Given the description of an element on the screen output the (x, y) to click on. 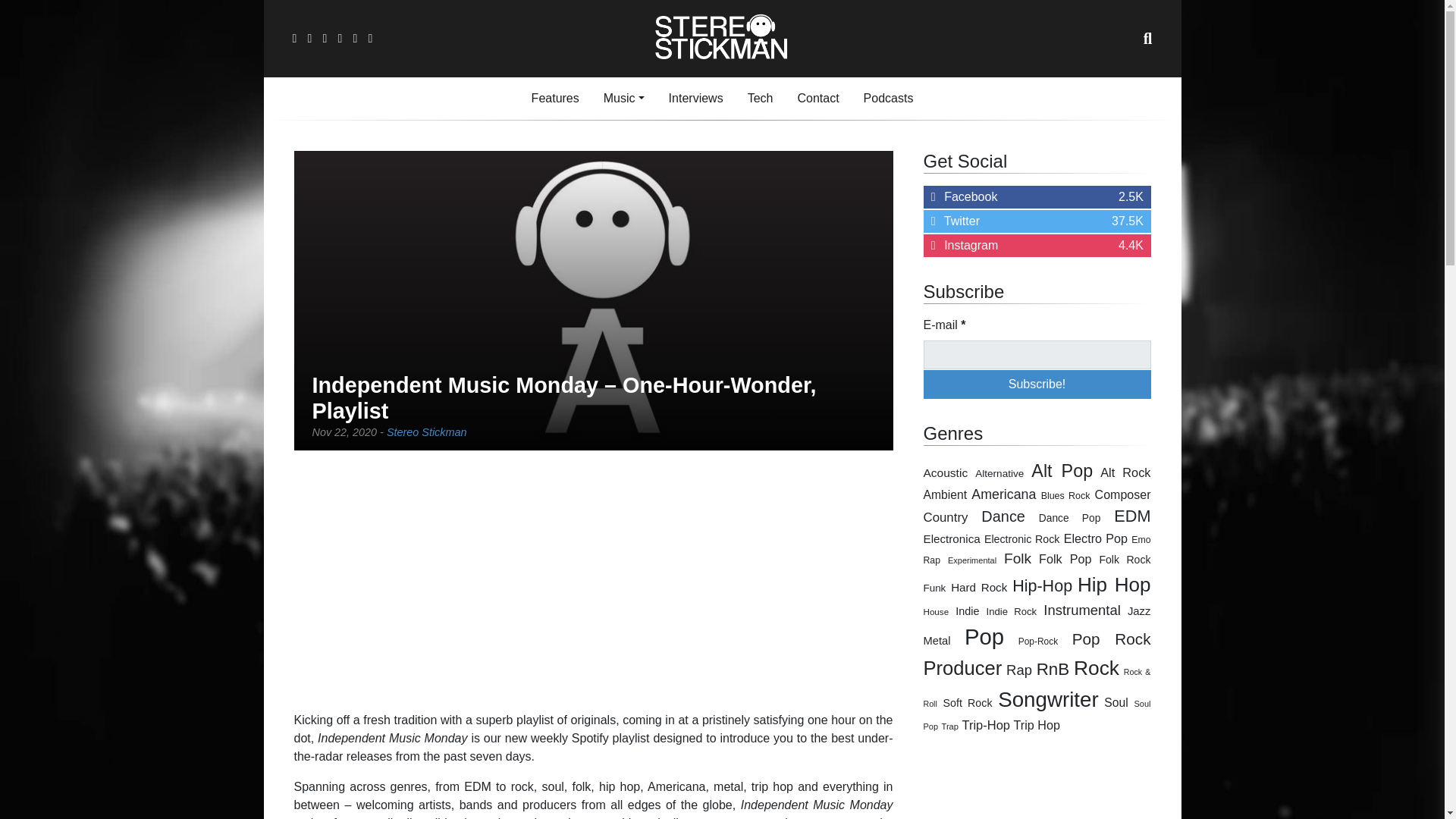
Alternative (999, 473)
Music (1037, 245)
Interviews (623, 98)
Tech (695, 98)
Podcasts (760, 98)
Advertisement (888, 98)
Americana (593, 581)
Alt Pop (1003, 494)
Contact (1061, 470)
